Given the description of an element on the screen output the (x, y) to click on. 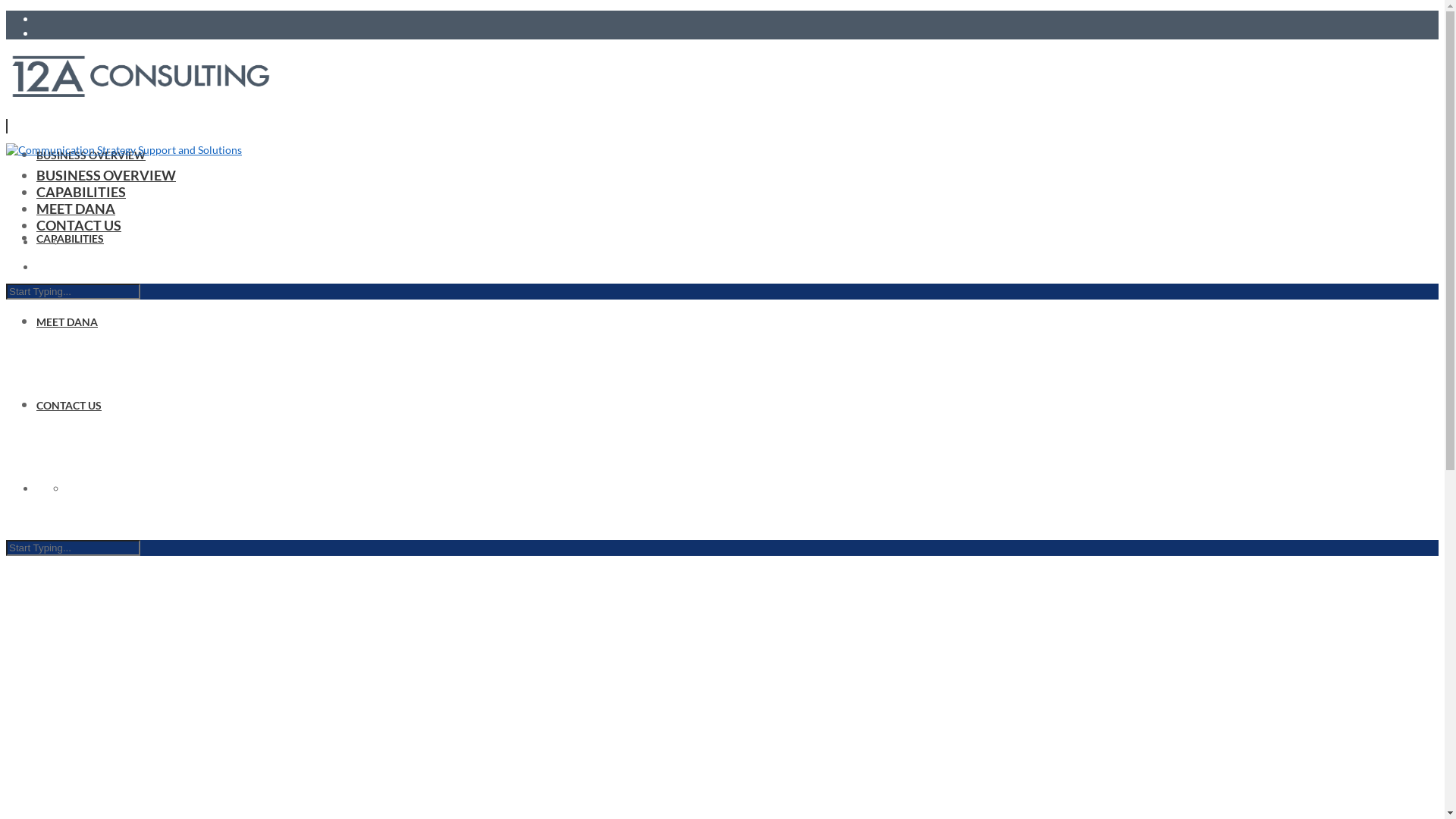
BUSINESS OVERVIEW Element type: text (105, 174)
CONTACT US Element type: text (78, 224)
Communication Strategy Support and Solutions Element type: hover (123, 149)
MEET DANA Element type: text (66, 321)
BUSINESS OVERVIEW Element type: text (90, 154)
Communication Strategy Support and Solutions Element type: hover (140, 73)
MEET DANA Element type: text (75, 208)
CAPABILITIES Element type: text (69, 238)
CONTACT US Element type: text (68, 404)
CAPABILITIES Element type: text (80, 191)
